Given the description of an element on the screen output the (x, y) to click on. 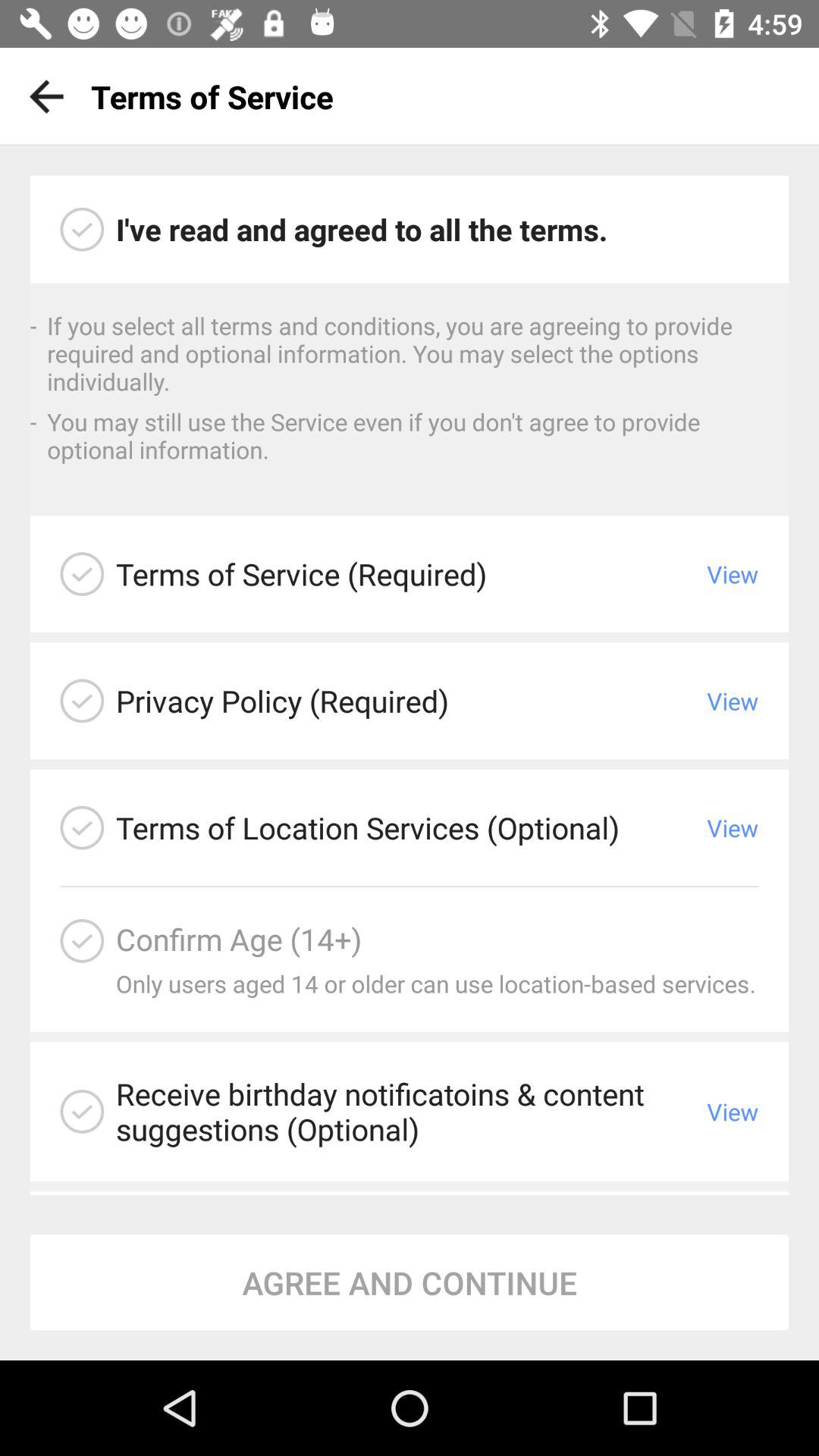
check to agree (82, 574)
